Given the description of an element on the screen output the (x, y) to click on. 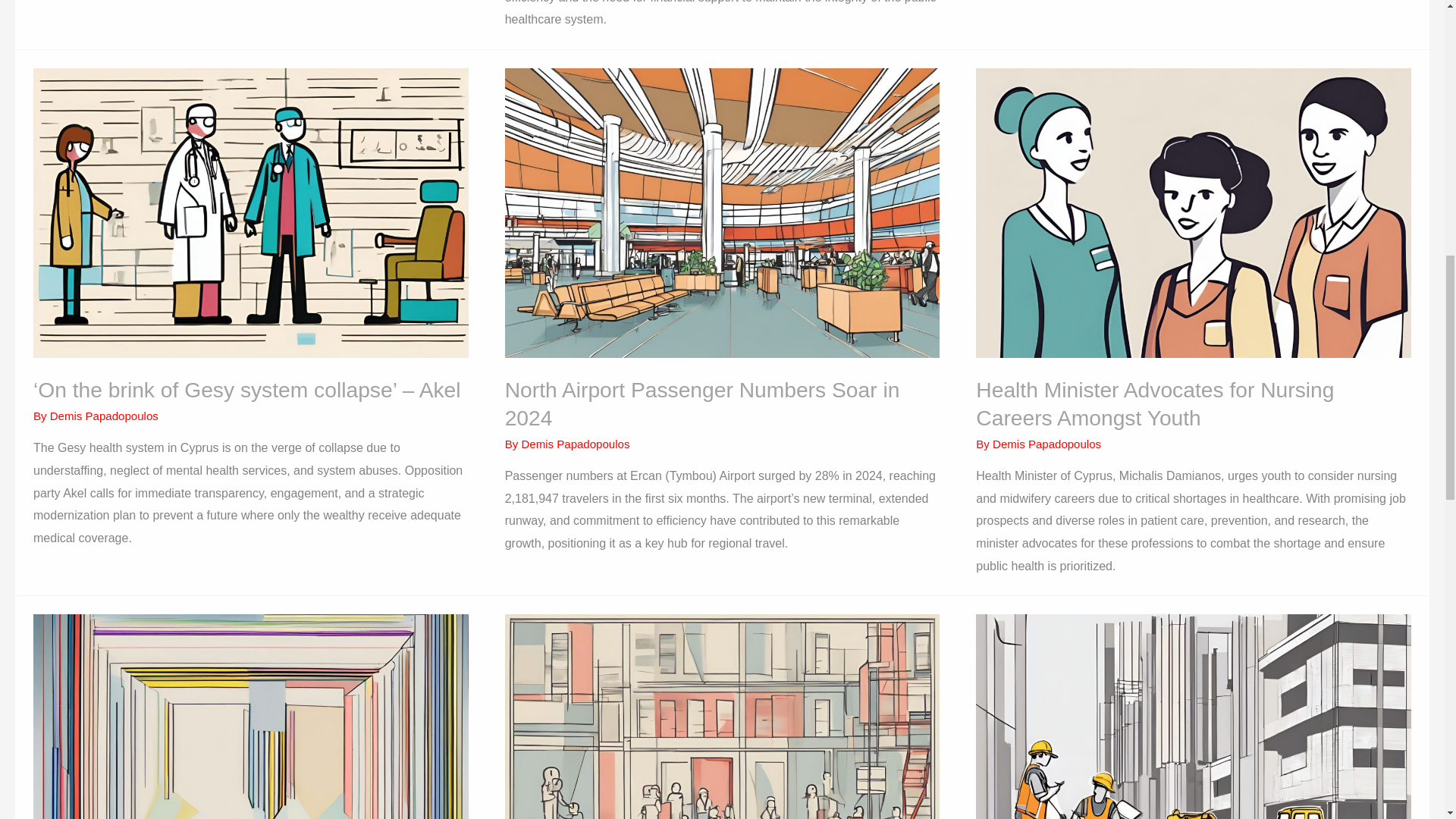
View all posts by Demis Papadopoulos (574, 443)
View all posts by Demis Papadopoulos (1046, 443)
North Airport Passenger Numbers Soar in 2024 (702, 403)
View all posts by Demis Papadopoulos (103, 415)
Demis Papadopoulos (103, 415)
Demis Papadopoulos (574, 443)
